Given the description of an element on the screen output the (x, y) to click on. 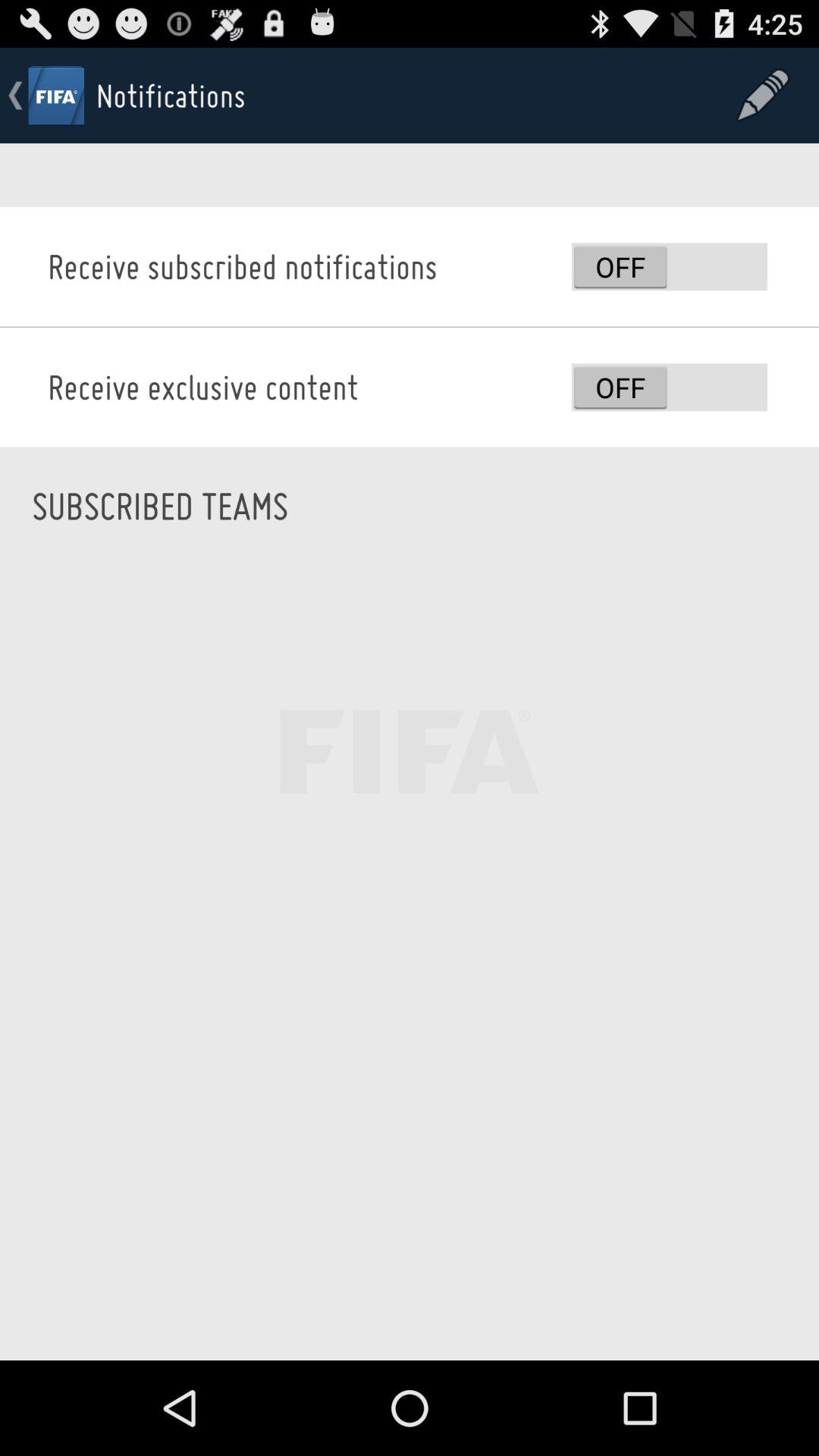
select the app next to the notifications item (763, 95)
